Given the description of an element on the screen output the (x, y) to click on. 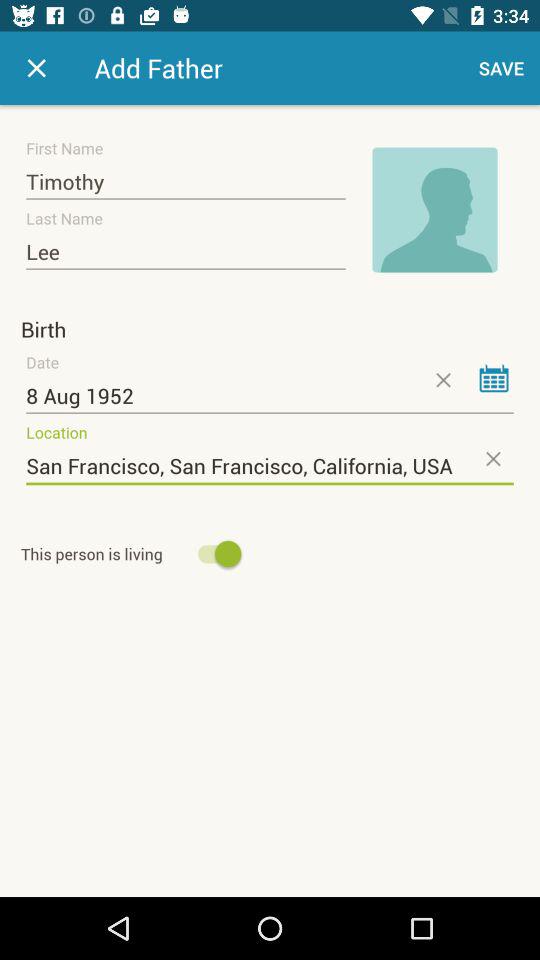
press the timothy icon (185, 182)
